Given the description of an element on the screen output the (x, y) to click on. 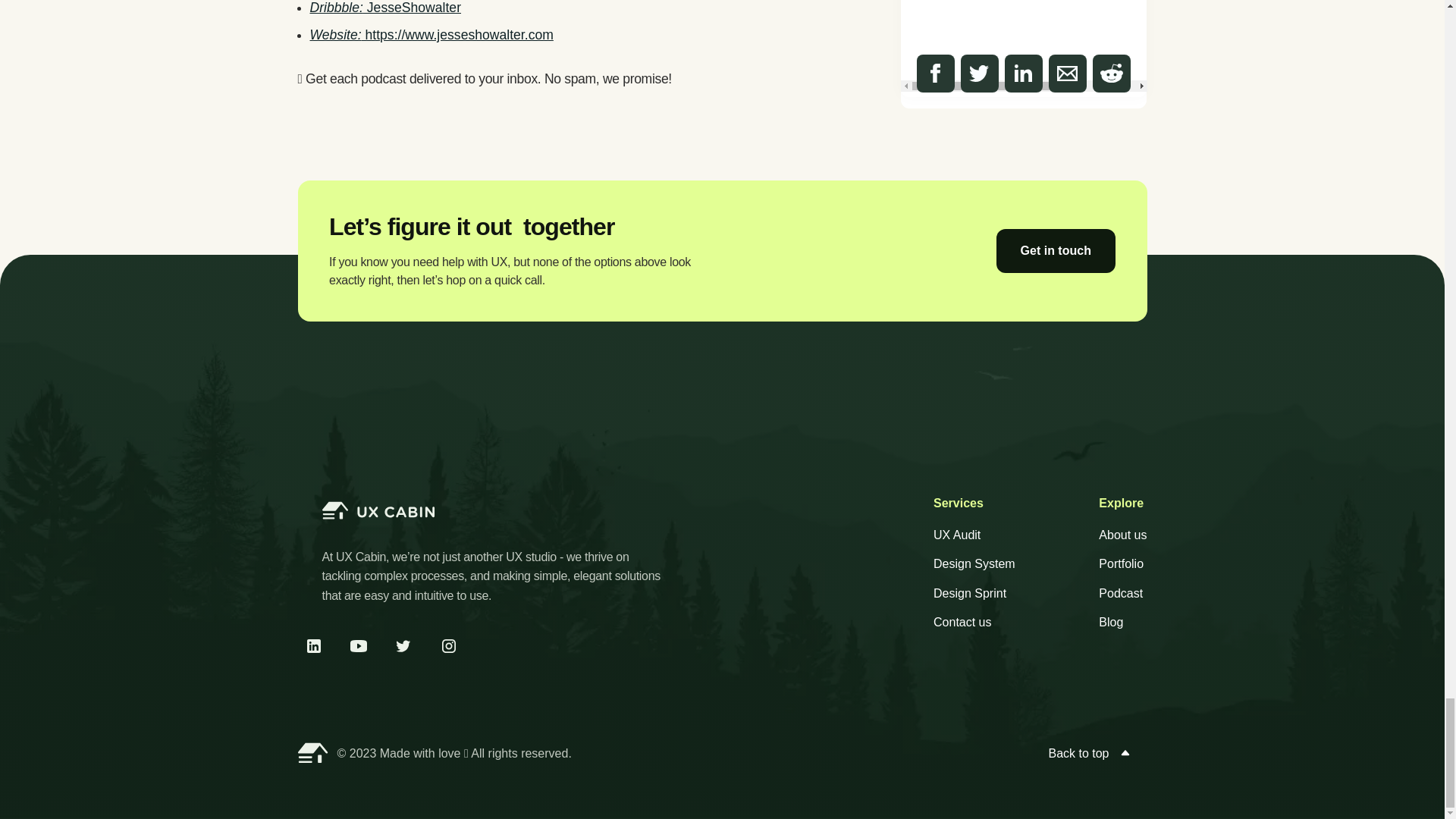
Dribbble: JesseShowalter (384, 7)
